Given the description of an element on the screen output the (x, y) to click on. 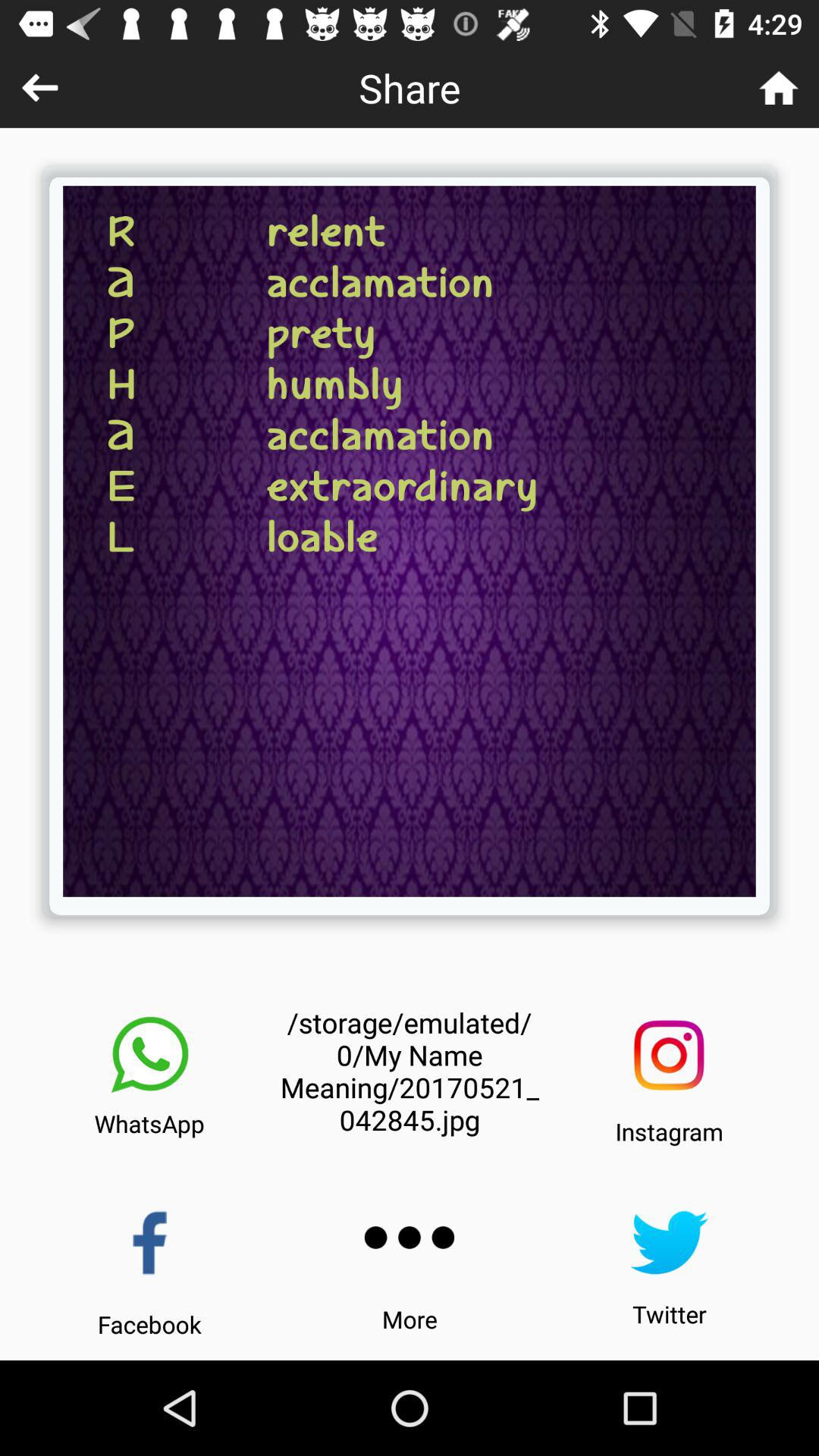
turn off icon next to the storage emulated 0 icon (149, 1055)
